Given the description of an element on the screen output the (x, y) to click on. 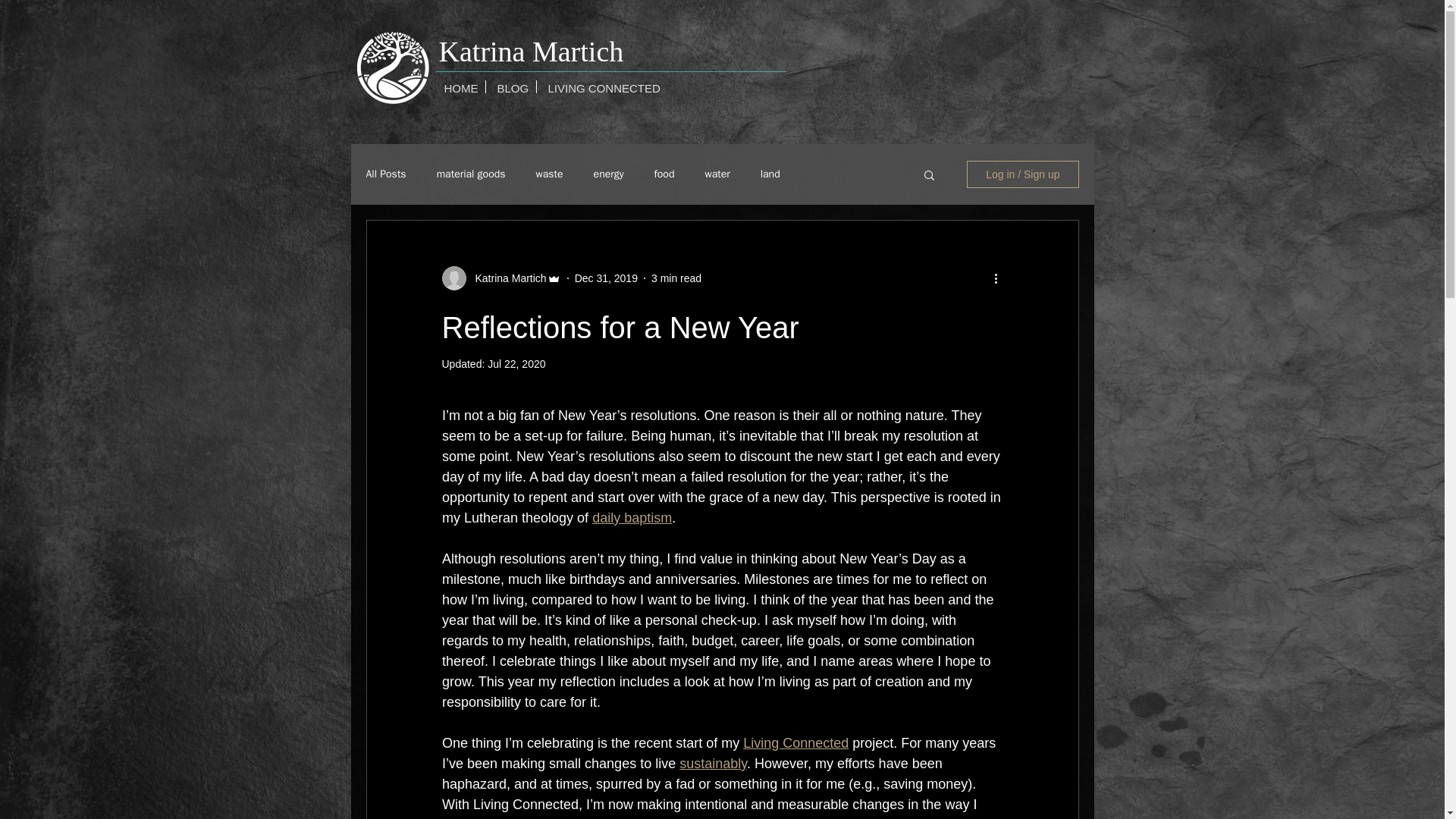
daily baptism (631, 517)
LIVING CONNECTED (598, 86)
Dec 31, 2019 (606, 277)
water (716, 173)
All Posts (385, 173)
BLOG (509, 86)
Jul 22, 2020 (515, 363)
food (664, 173)
3 min read (675, 277)
waste (549, 173)
